Given the description of an element on the screen output the (x, y) to click on. 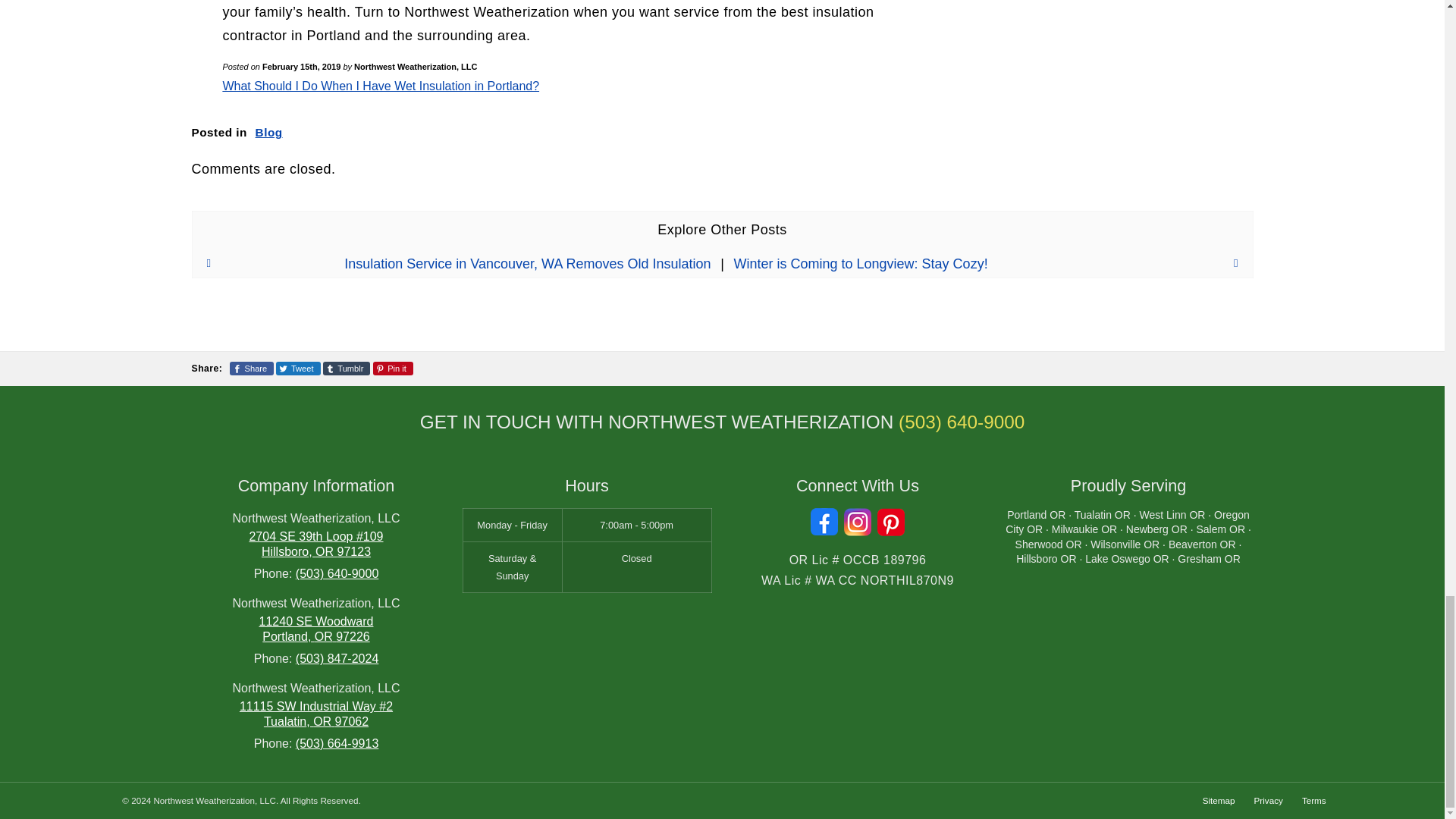
Facebook (824, 521)
Tweet (298, 368)
Tumblr (347, 368)
What Should I Do When I Have Wet Insulation in Portland? (380, 85)
Pin it (392, 368)
Share (251, 368)
Insulation Service in Vancouver, WA Removes Old Insulation (450, 264)
Blog (269, 132)
Pinterest (890, 521)
Winter is Coming to Longview: Stay Cozy! (993, 264)
Instagram (857, 521)
